Given the description of an element on the screen output the (x, y) to click on. 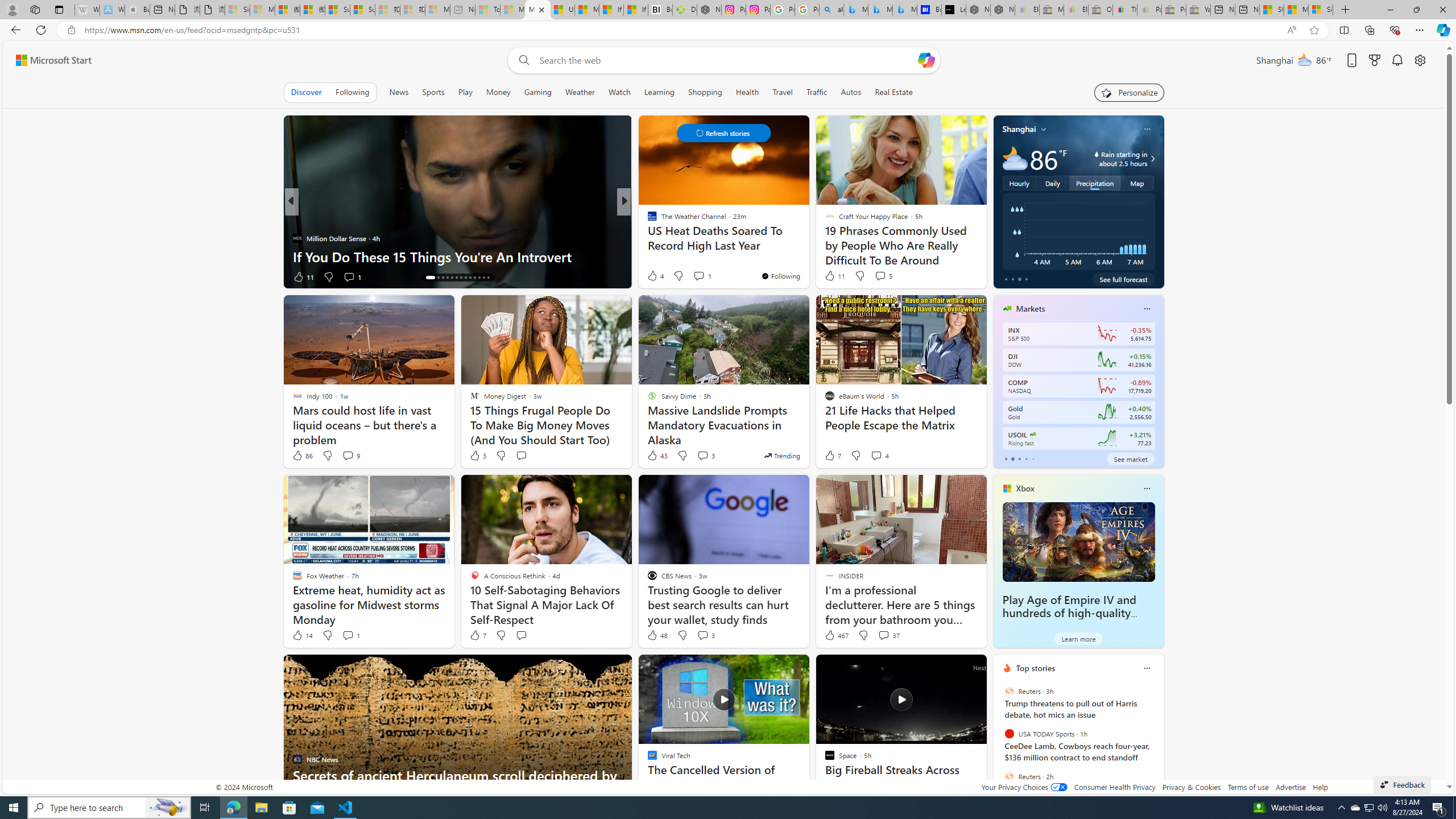
Yard, Garden & Outdoor Living - Sleeping (1197, 9)
Nordace - Nordace Edin Collection (708, 9)
View comments 339 Comment (709, 276)
water-drop-icon Rain starting in about 2.5 hours (1110, 158)
MSNBC (647, 219)
311 Like (654, 276)
Rain starting in about 2.5 hours (1150, 158)
AutomationID: tab-23 (474, 277)
